Given the description of an element on the screen output the (x, y) to click on. 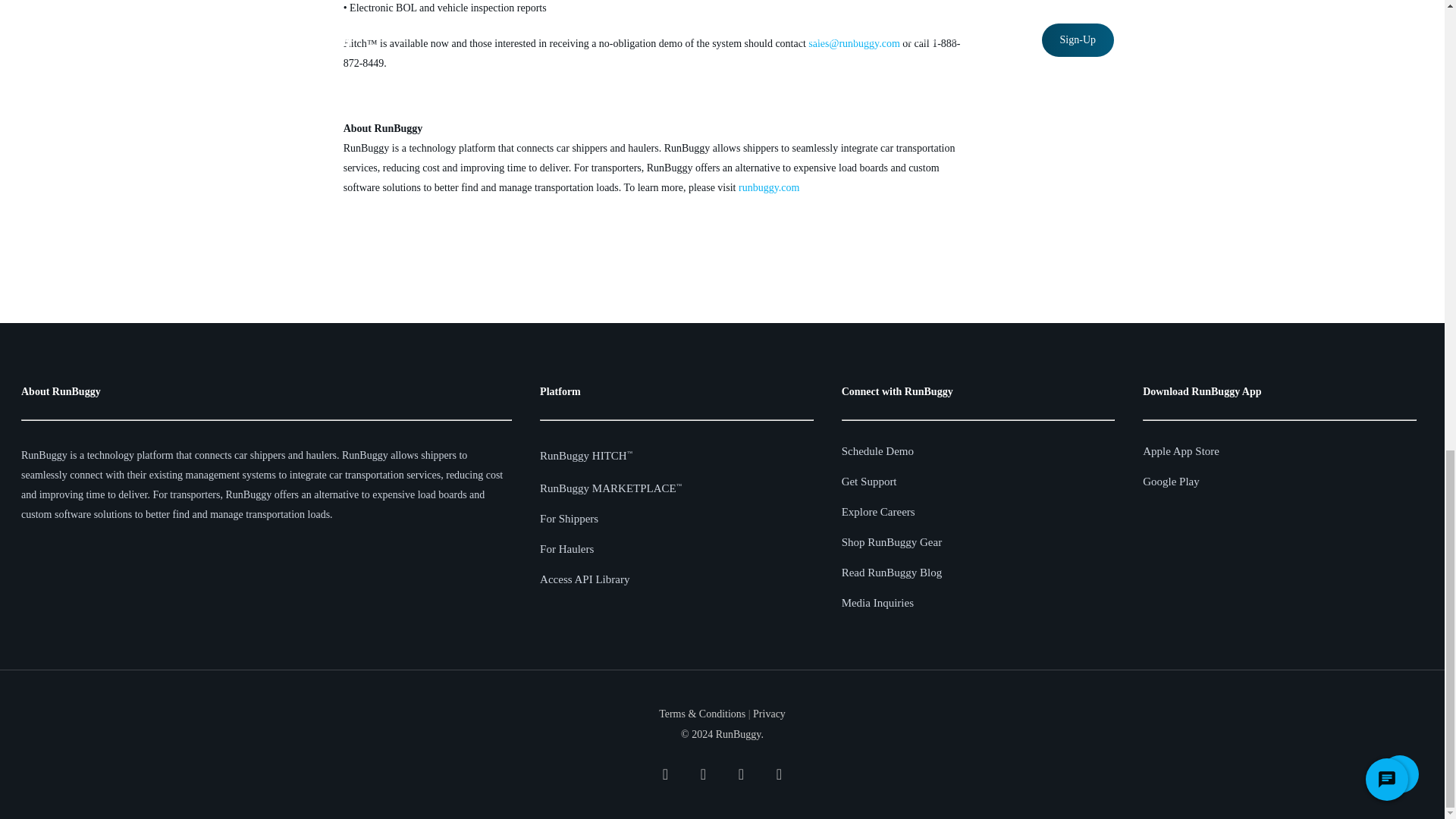
runbuggy.com (768, 187)
